Given the description of an element on the screen output the (x, y) to click on. 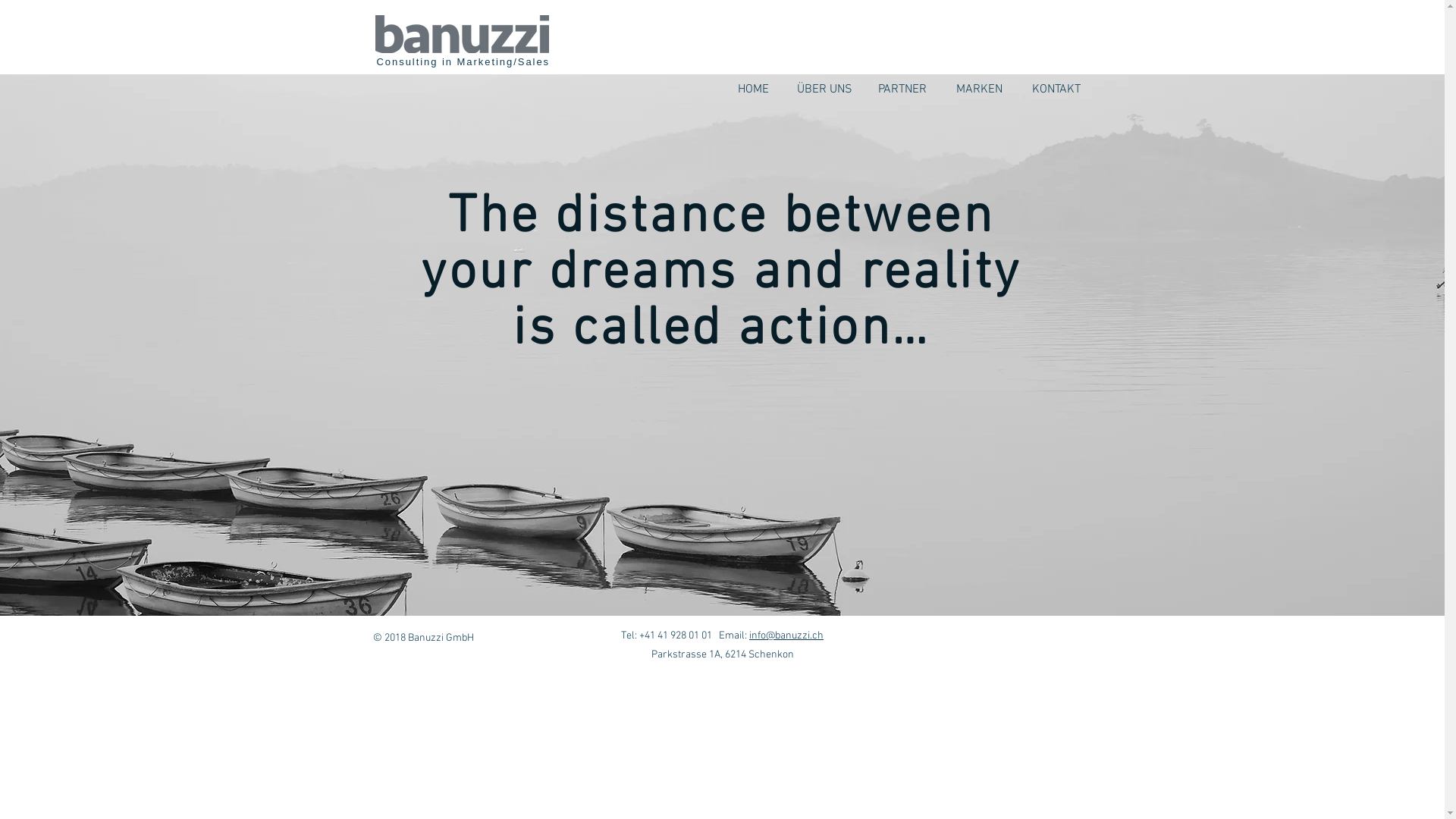
HOME Element type: text (756, 89)
Wix Language Menu Element type: hover (1061, 62)
Consulting in Marketing/Sales Element type: text (462, 61)
KONTAKT Element type: text (1059, 89)
PARTNER Element type: text (906, 89)
MARKEN Element type: text (981, 89)
info@banuzzi.ch Element type: text (786, 635)
